Given the description of an element on the screen output the (x, y) to click on. 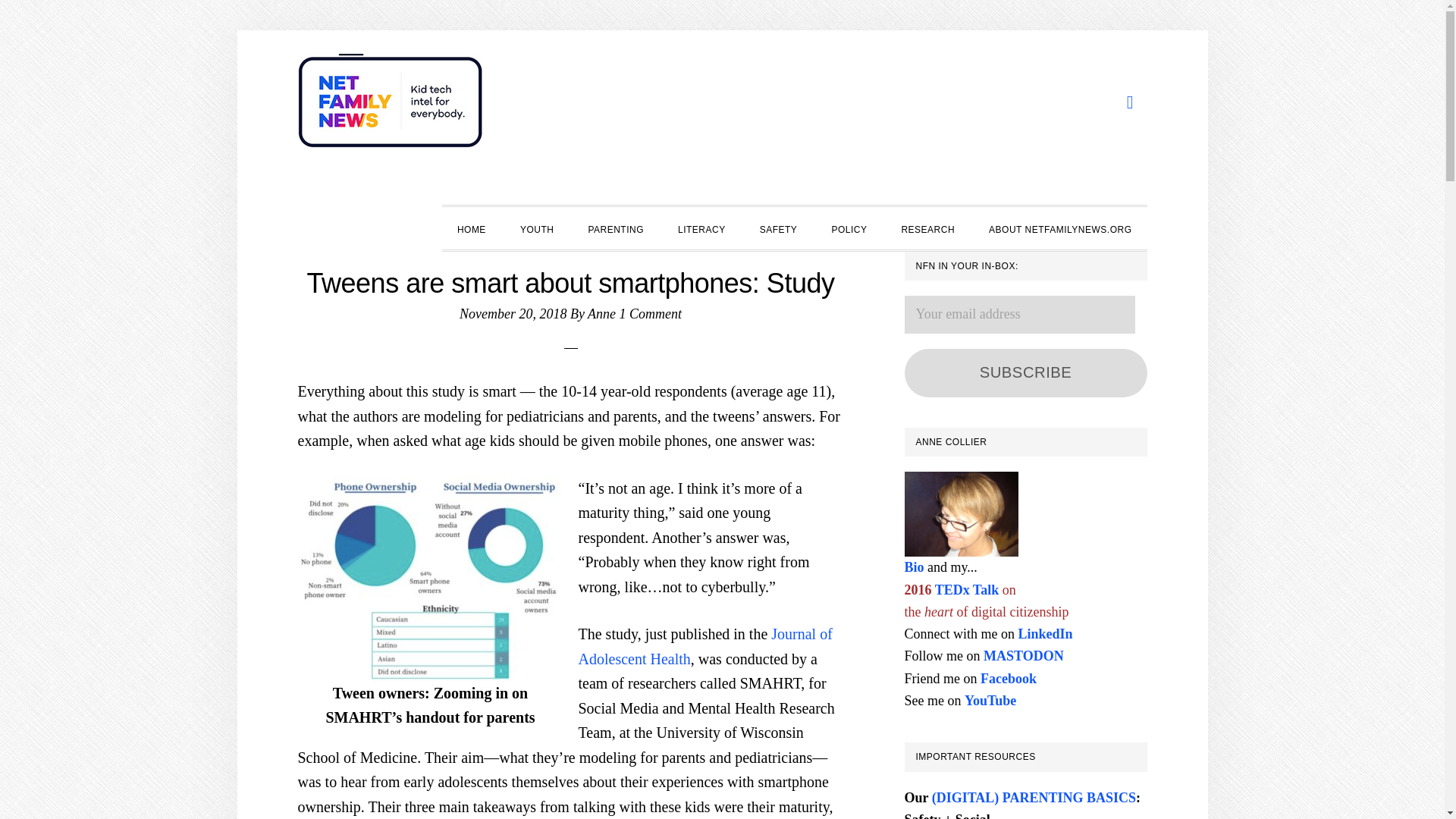
Journal of Adolescent Health (704, 646)
Anne (601, 313)
YOUTH (537, 228)
NETFAMILYNEWS.ORG (391, 105)
PARENTING (615, 228)
SAFETY (778, 228)
POLICY (848, 228)
LITERACY (701, 228)
HOME (471, 228)
RESEARCH (927, 228)
